Given the description of an element on the screen output the (x, y) to click on. 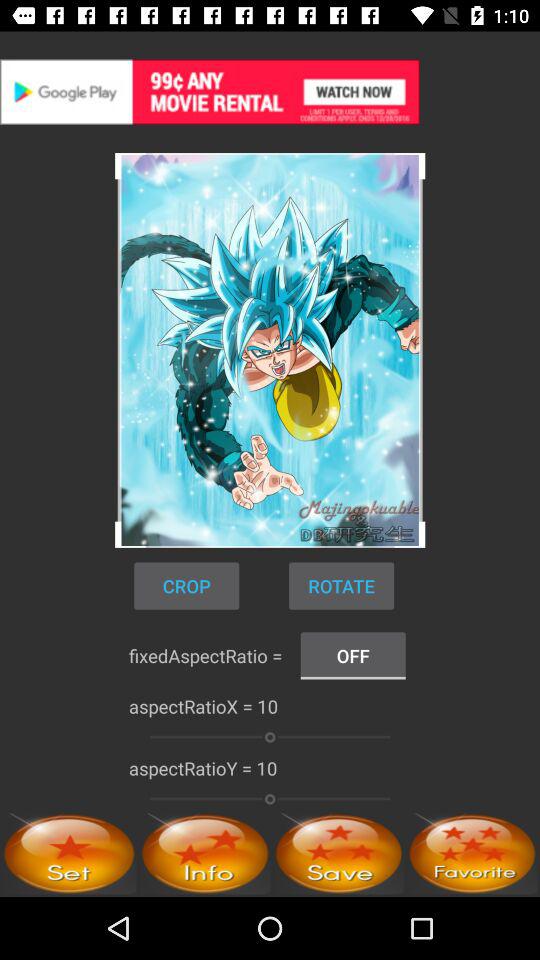
go to rating (472, 853)
